Given the description of an element on the screen output the (x, y) to click on. 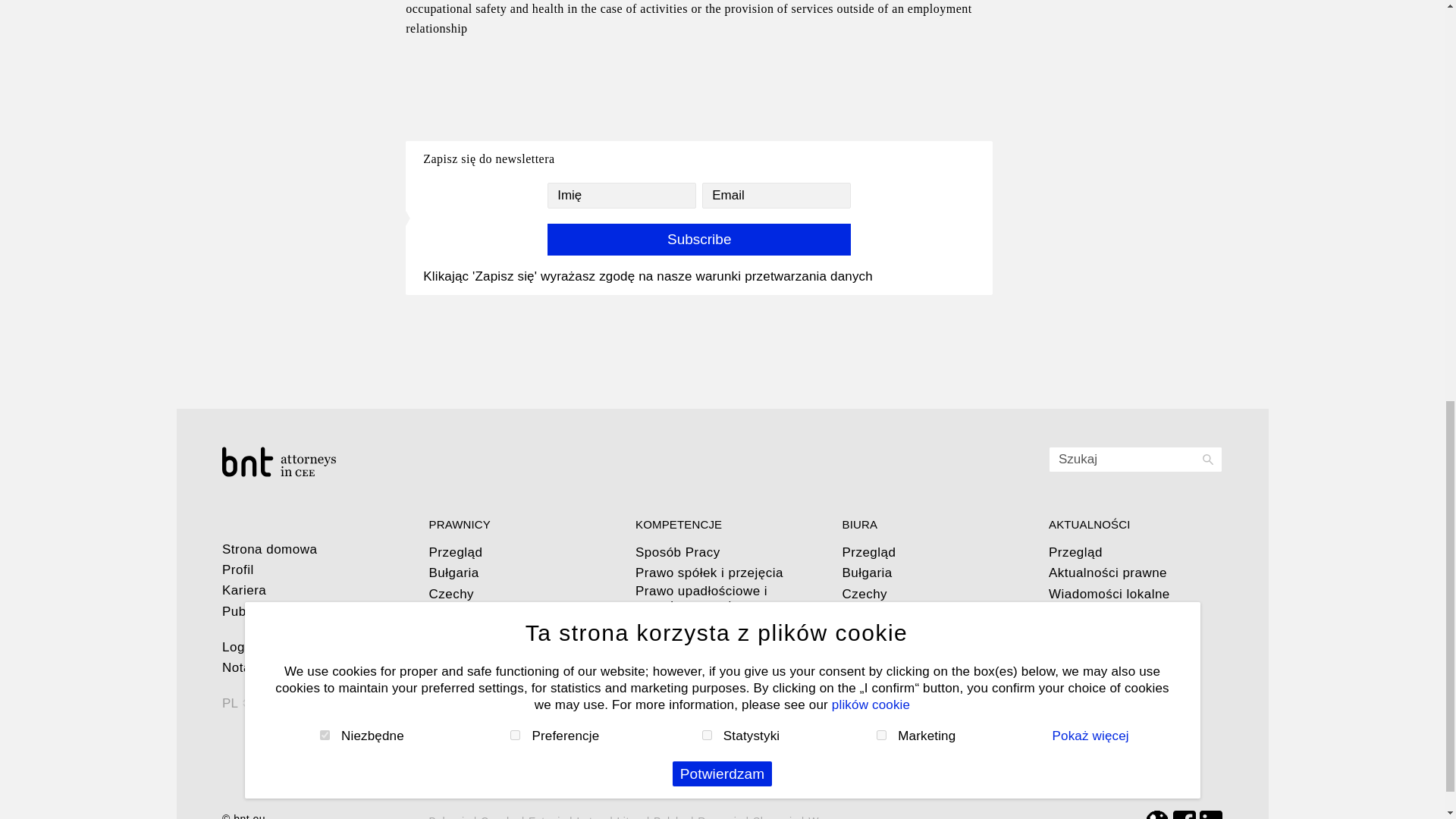
Visit us on Facebook (1184, 816)
bnt attorneys for Central and Eastern Europe (309, 461)
Legal and Tax Consultancy in Central and Eastern Europe (243, 816)
Visit us on Linkedin (1211, 816)
Szukaj (1135, 459)
Szukaj (1135, 459)
